Given the description of an element on the screen output the (x, y) to click on. 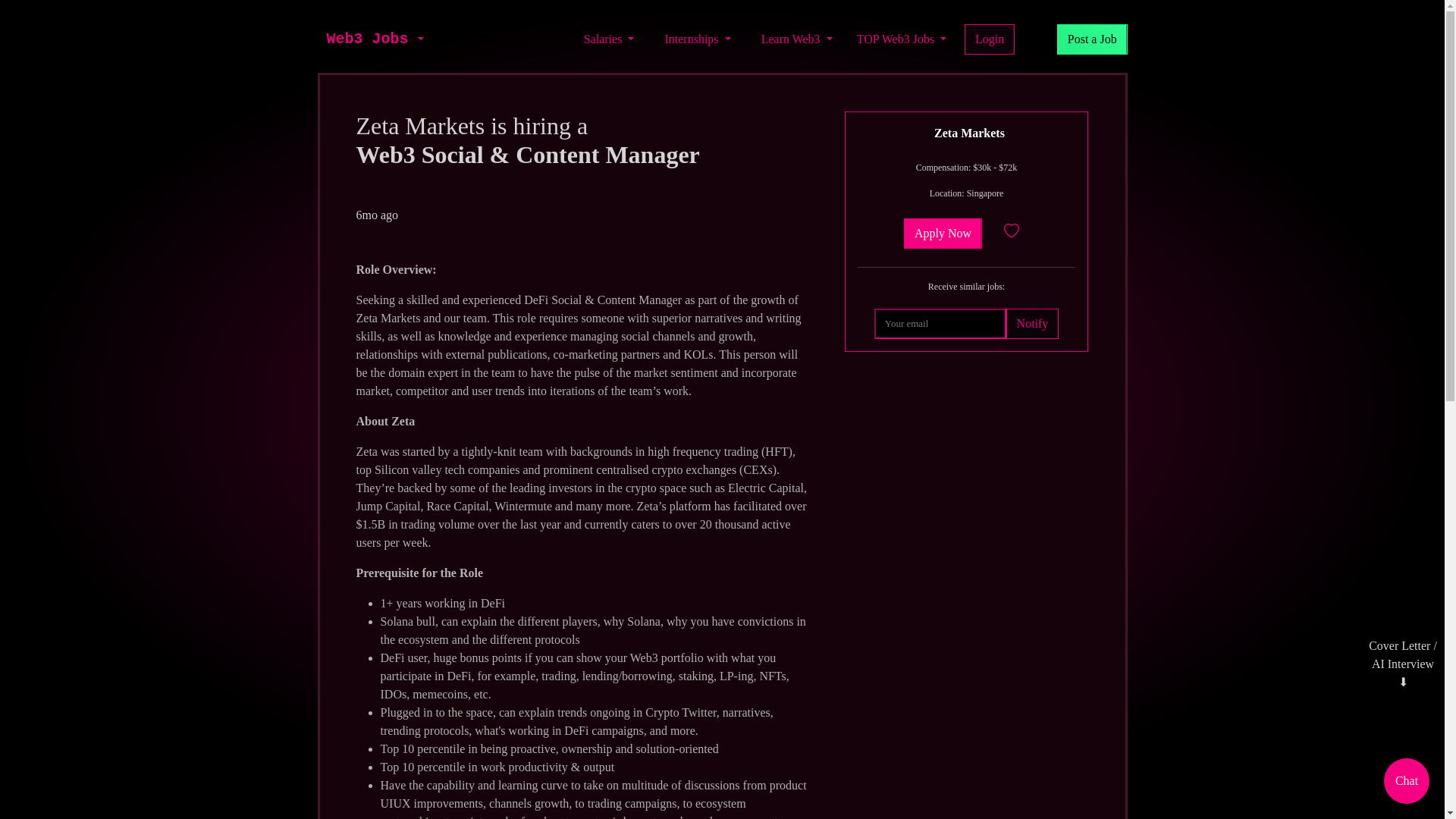
Learn Web3 (796, 39)
Web3 Jobs (366, 39)
Notify (1032, 323)
Internships (697, 39)
Salaries (609, 39)
